Given the description of an element on the screen output the (x, y) to click on. 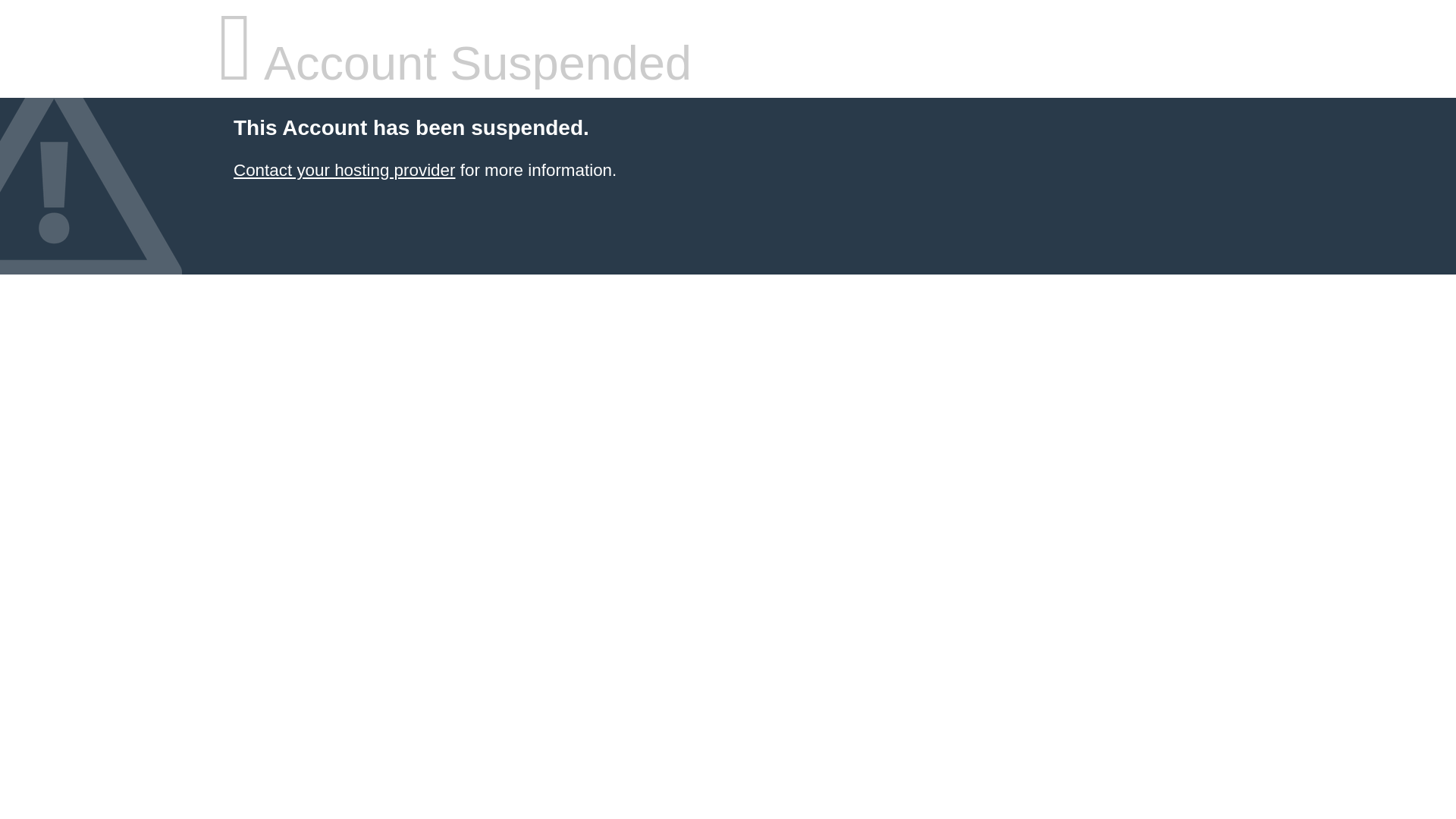
Contact your hosting provider (343, 169)
